Given the description of an element on the screen output the (x, y) to click on. 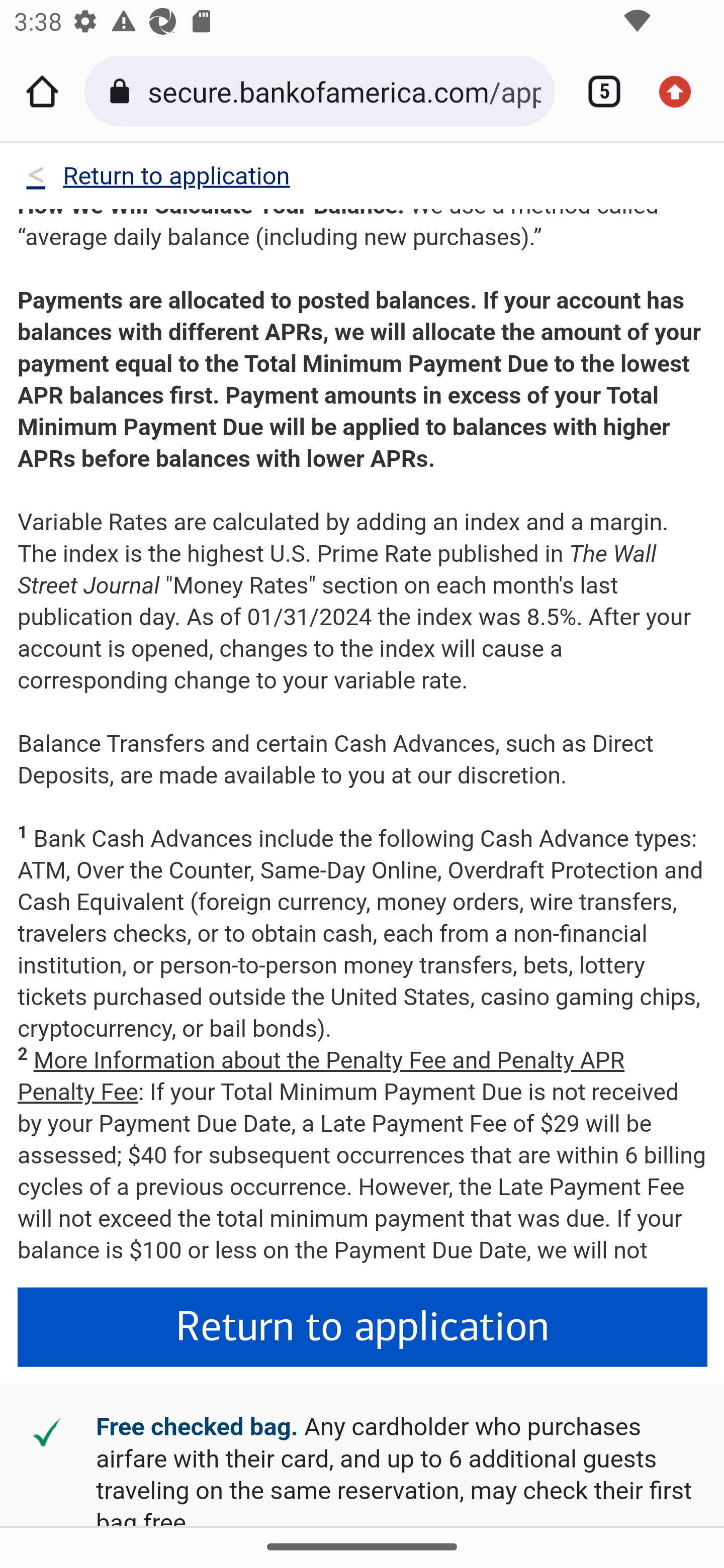
Home (42, 91)
Connection is secure (122, 91)
Switch or close tabs (597, 91)
Update available. More options (681, 91)
<Return to application < Return to application (157, 180)
Return to application (362, 1327)
